Given the description of an element on the screen output the (x, y) to click on. 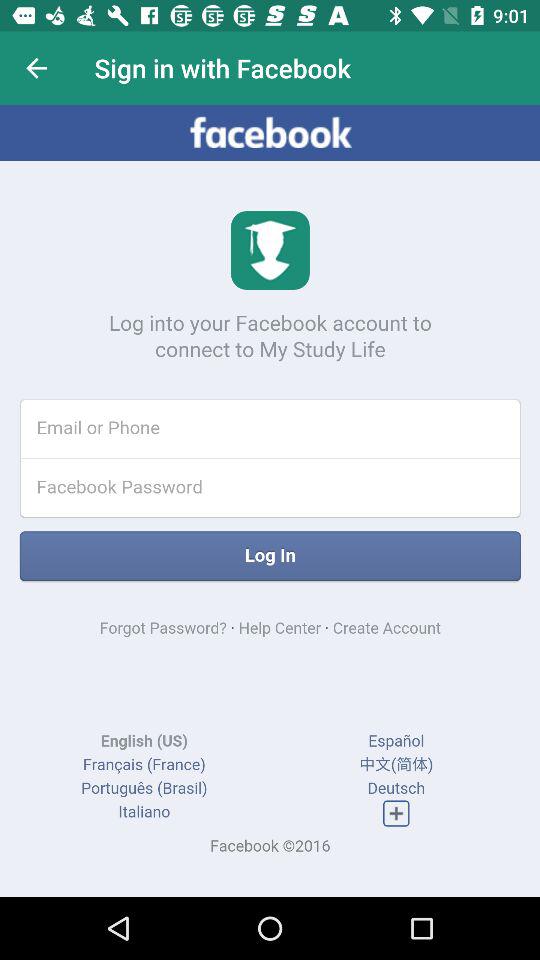
front of the page (270, 501)
